Given the description of an element on the screen output the (x, y) to click on. 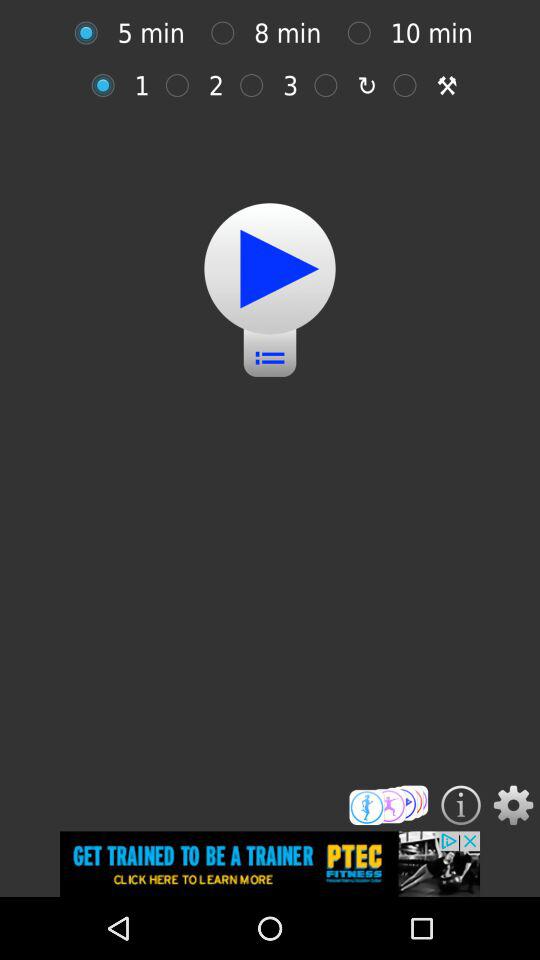
select 5 minutes (91, 32)
